Given the description of an element on the screen output the (x, y) to click on. 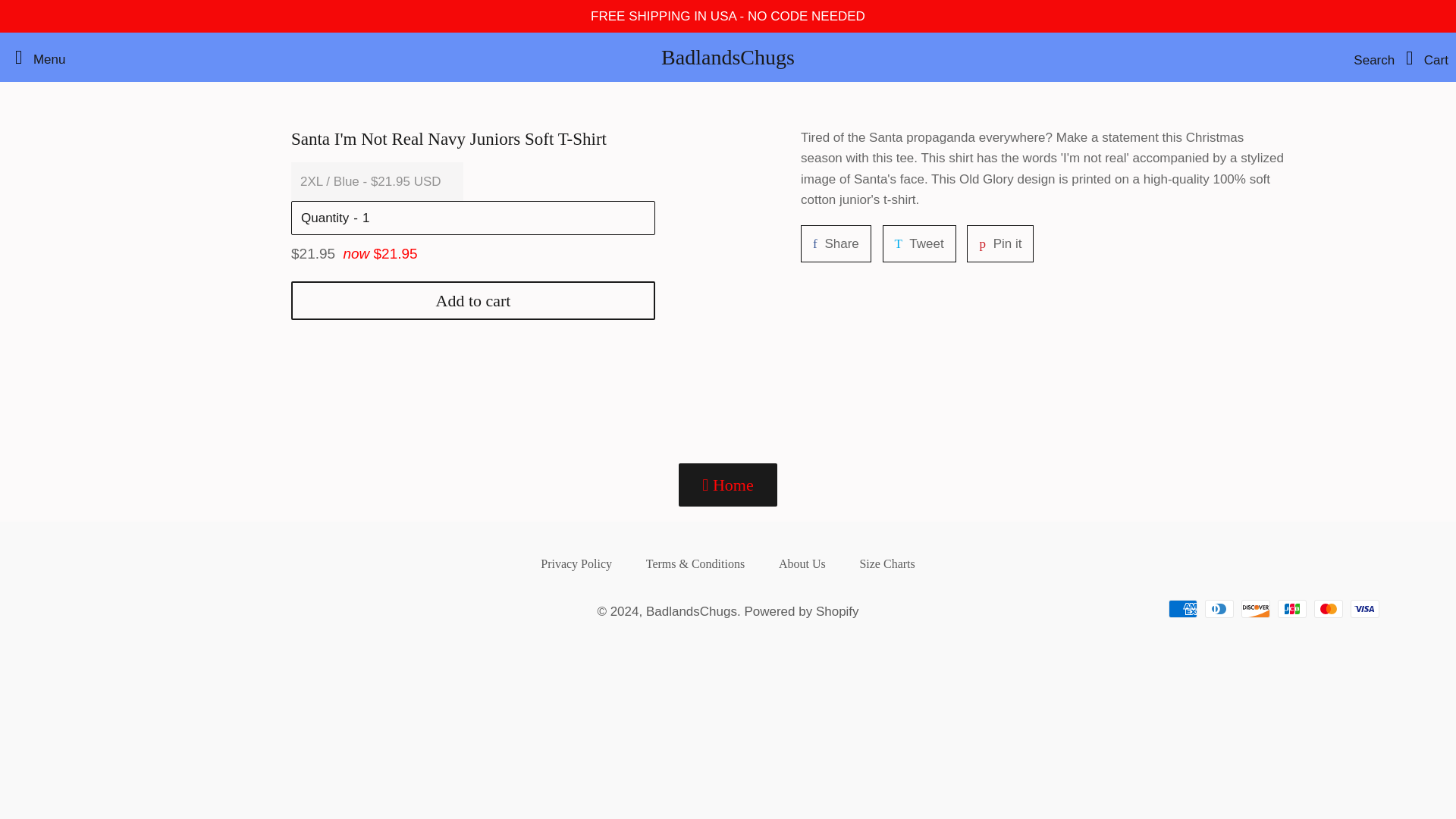
Cart (1422, 57)
Discover (1255, 608)
Menu (835, 243)
Mastercard (36, 57)
Diners Club (1328, 608)
1 (1219, 608)
American Express (505, 218)
About Us (1182, 608)
